Given the description of an element on the screen output the (x, y) to click on. 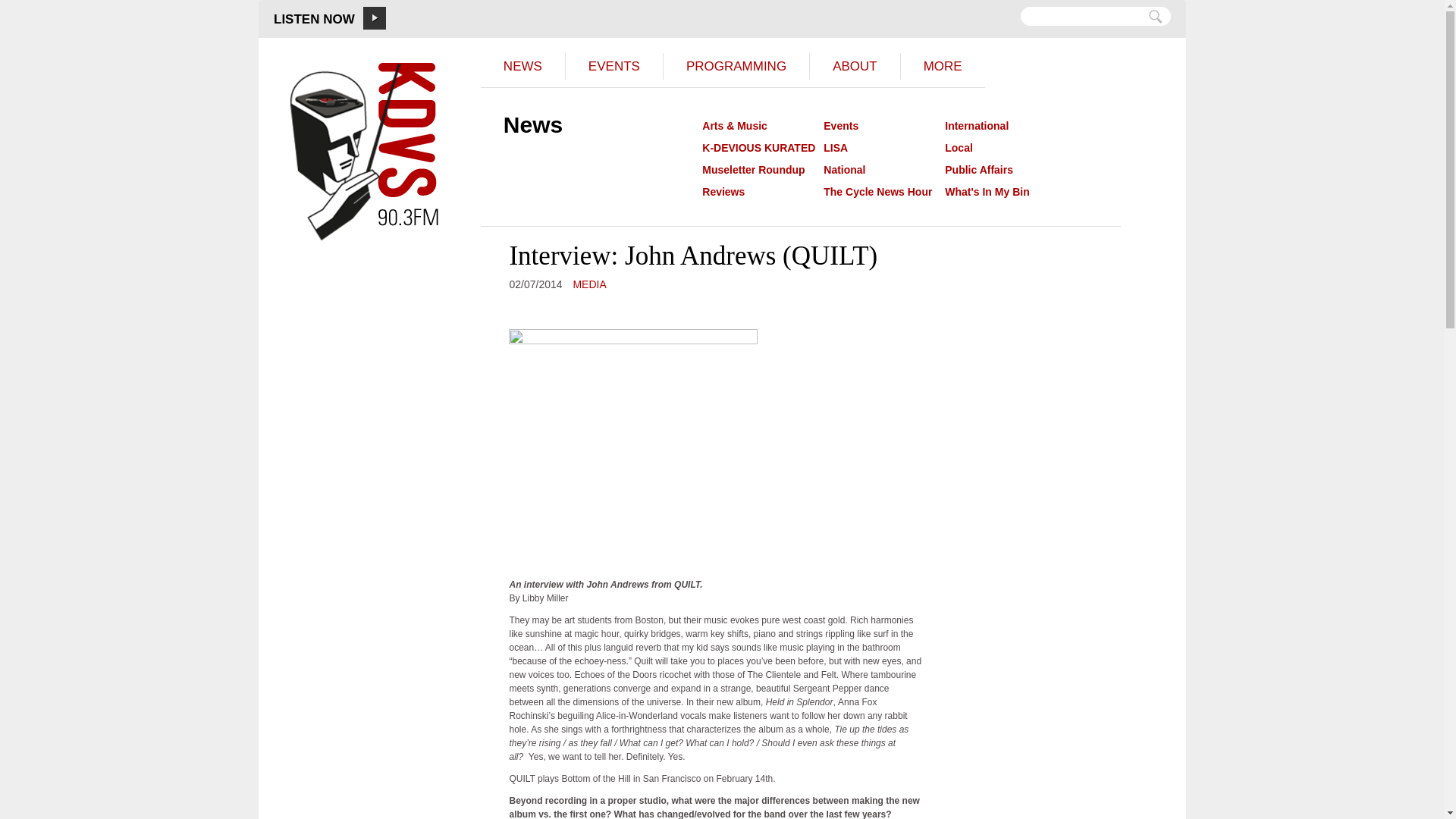
Events (841, 125)
EVENTS (613, 66)
MORE (942, 66)
PROGRAMMING (735, 66)
Museletter Roundup (753, 169)
Public Affairs (978, 169)
ABOUT (854, 66)
K-DEVIOUS KURATED (758, 147)
GO (1154, 16)
GO (1154, 16)
